Given the description of an element on the screen output the (x, y) to click on. 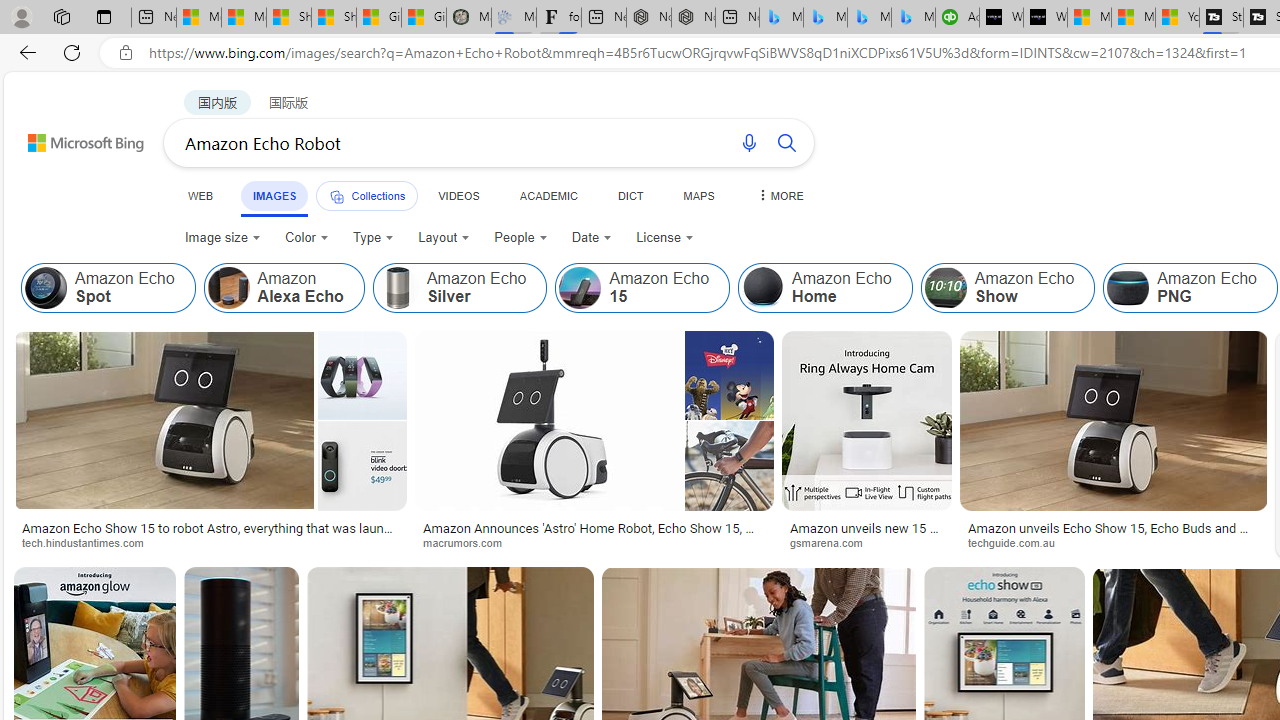
ACADEMIC (548, 195)
Search using voice (748, 142)
macrumors.com (468, 541)
Amazon Echo PNG (1190, 287)
Layout (443, 237)
Accounting Software for Accountants, CPAs and Bookkeepers (957, 17)
tech.hindustantimes.com (210, 542)
